Given the description of an element on the screen output the (x, y) to click on. 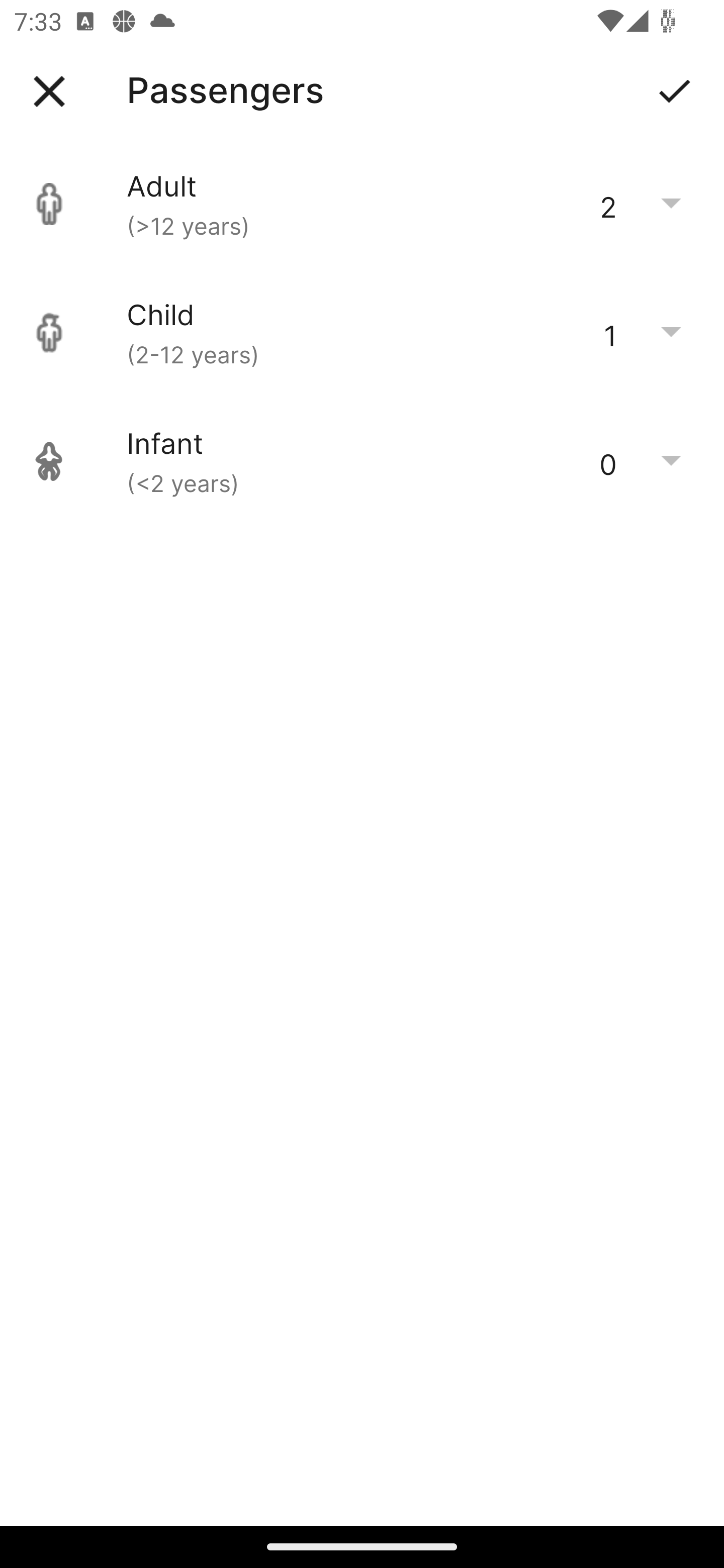
Adult (>12 years) 2 (362, 204)
Child (2-12 years) 1 (362, 332)
Infant (<2 years) 0 (362, 461)
